Given the description of an element on the screen output the (x, y) to click on. 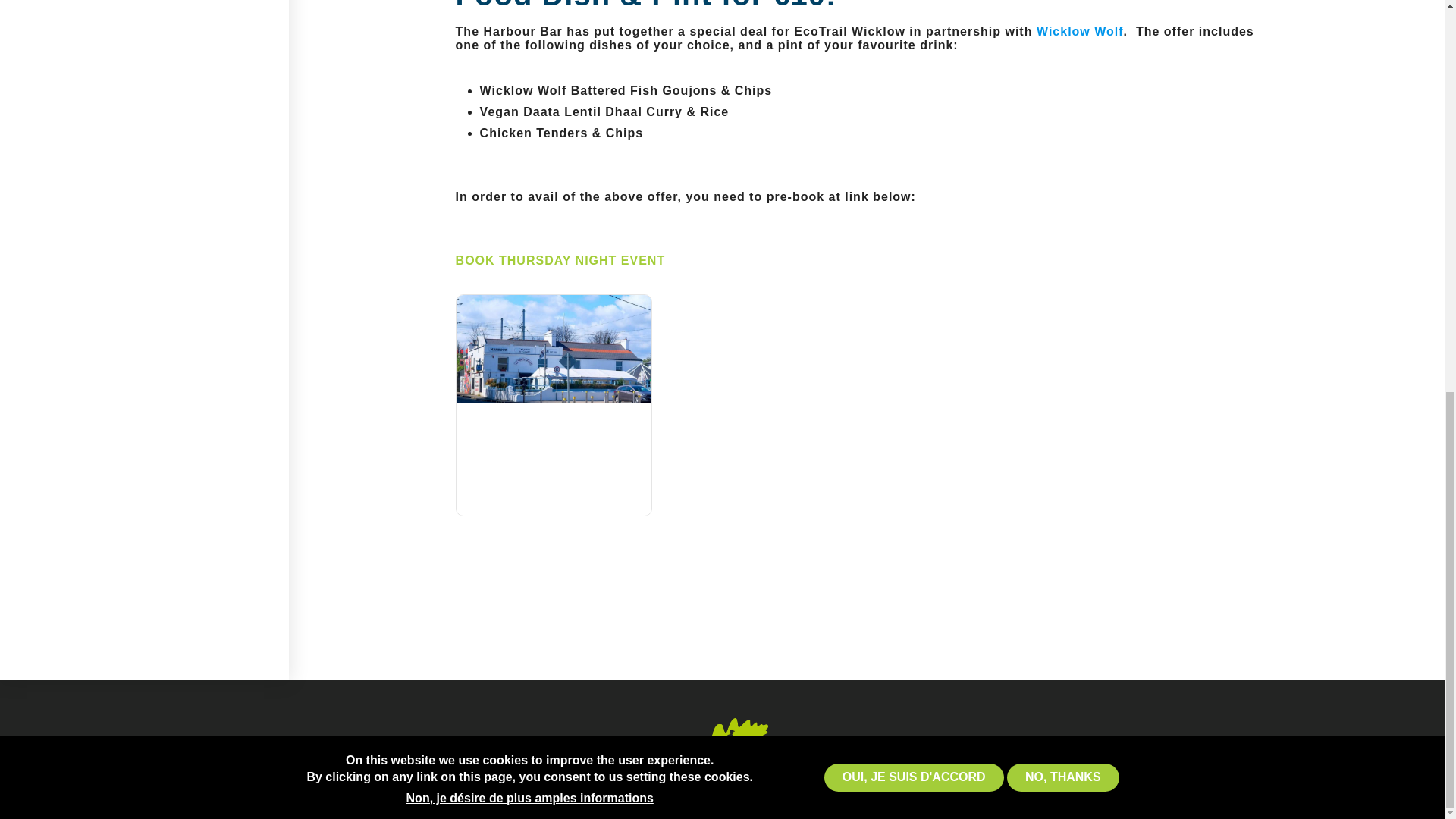
BOOK THURSDAY NIGHT EVENT (560, 259)
Wicklow Wolf (1080, 31)
